Given the description of an element on the screen output the (x, y) to click on. 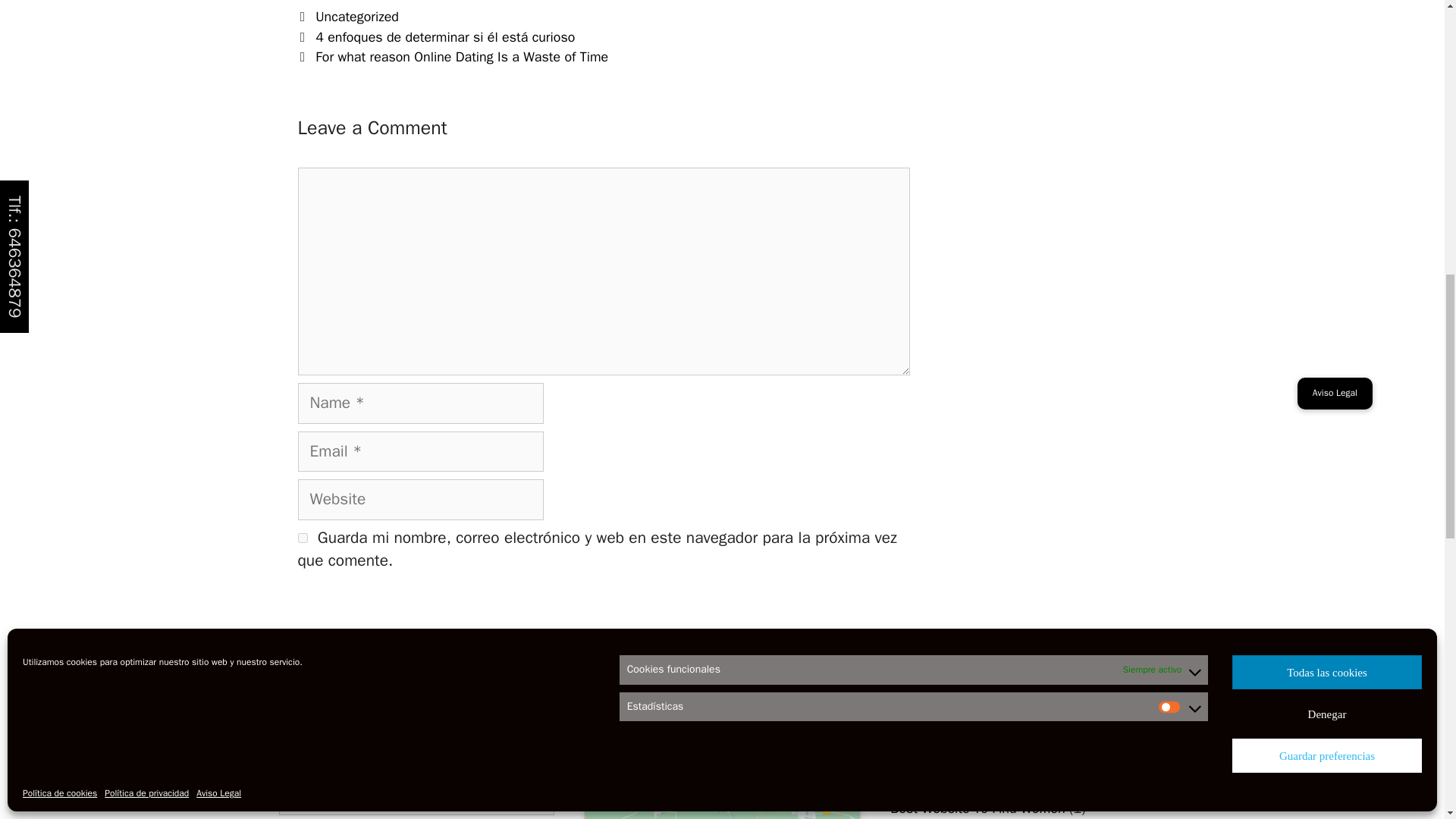
For what reason Online Dating Is a Waste of Time (461, 56)
Post Comment (358, 612)
Post Comment (358, 612)
Previous (436, 36)
Next (452, 56)
Uncategorized (356, 16)
yes (302, 537)
